Given the description of an element on the screen output the (x, y) to click on. 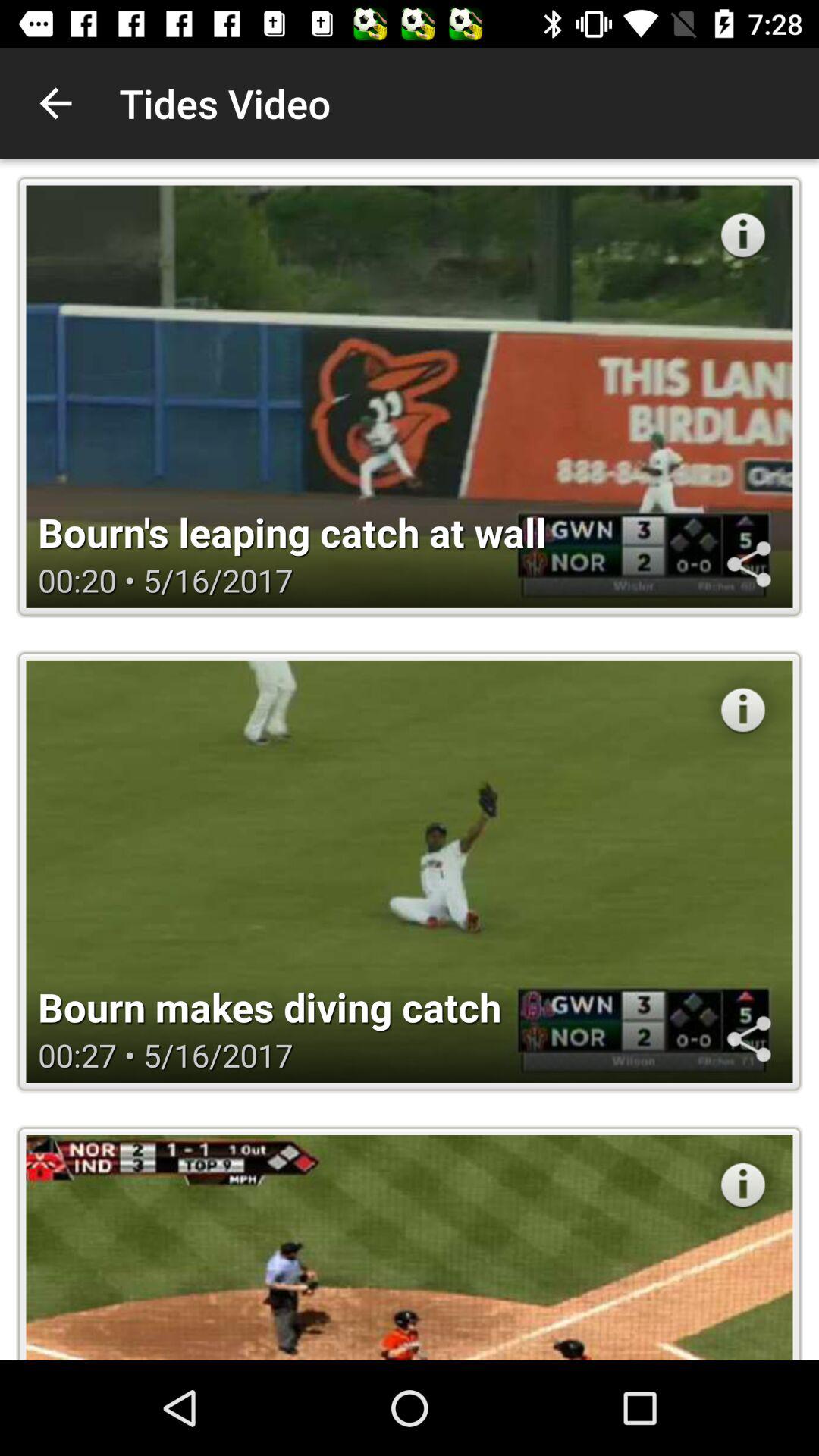
show info (742, 234)
